Given the description of an element on the screen output the (x, y) to click on. 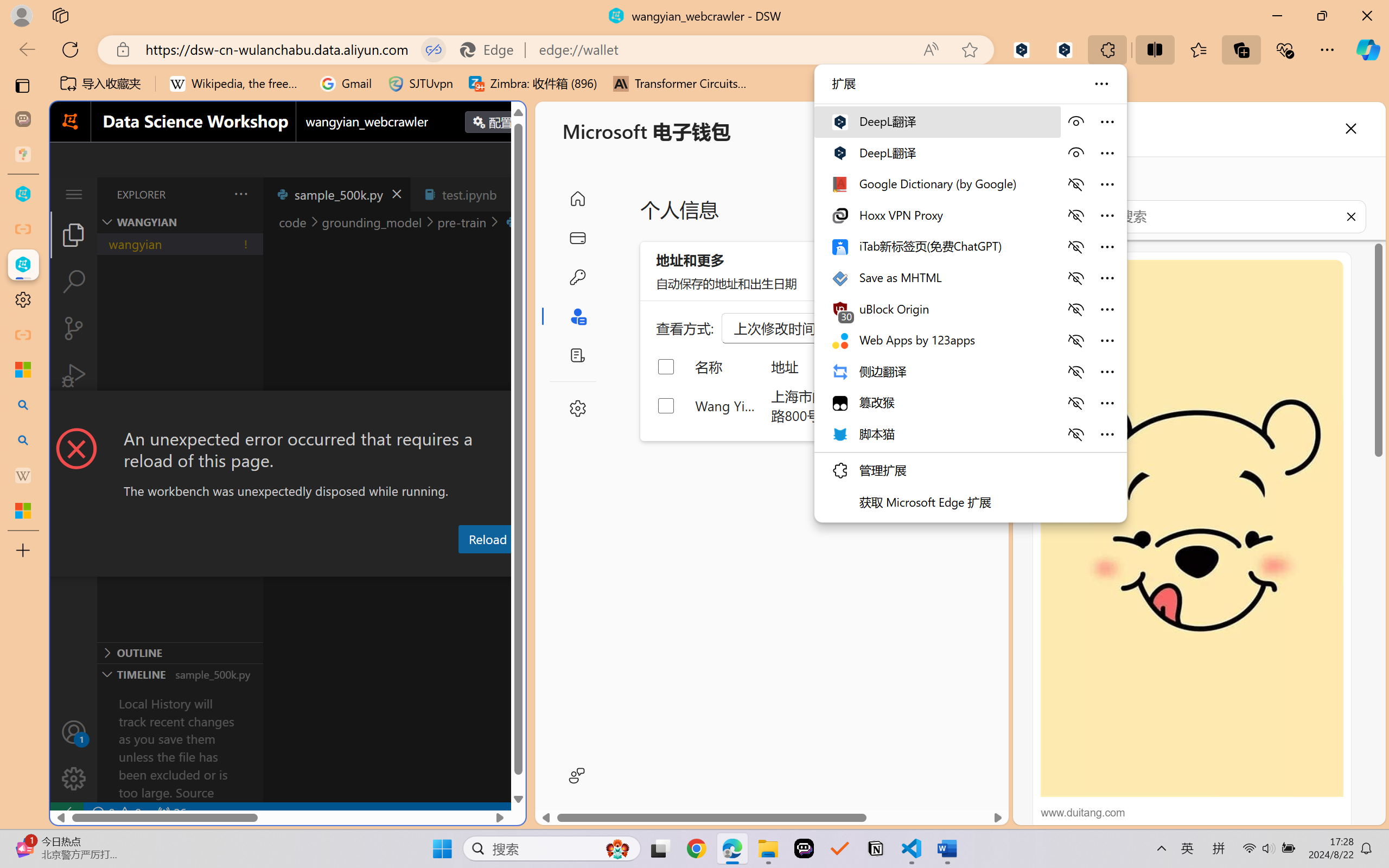
Copilot (Ctrl+Shift+.) (1368, 49)
Explorer actions (212, 194)
Class: menubar compact overflow-menu-only (73, 194)
